Given the description of an element on the screen output the (x, y) to click on. 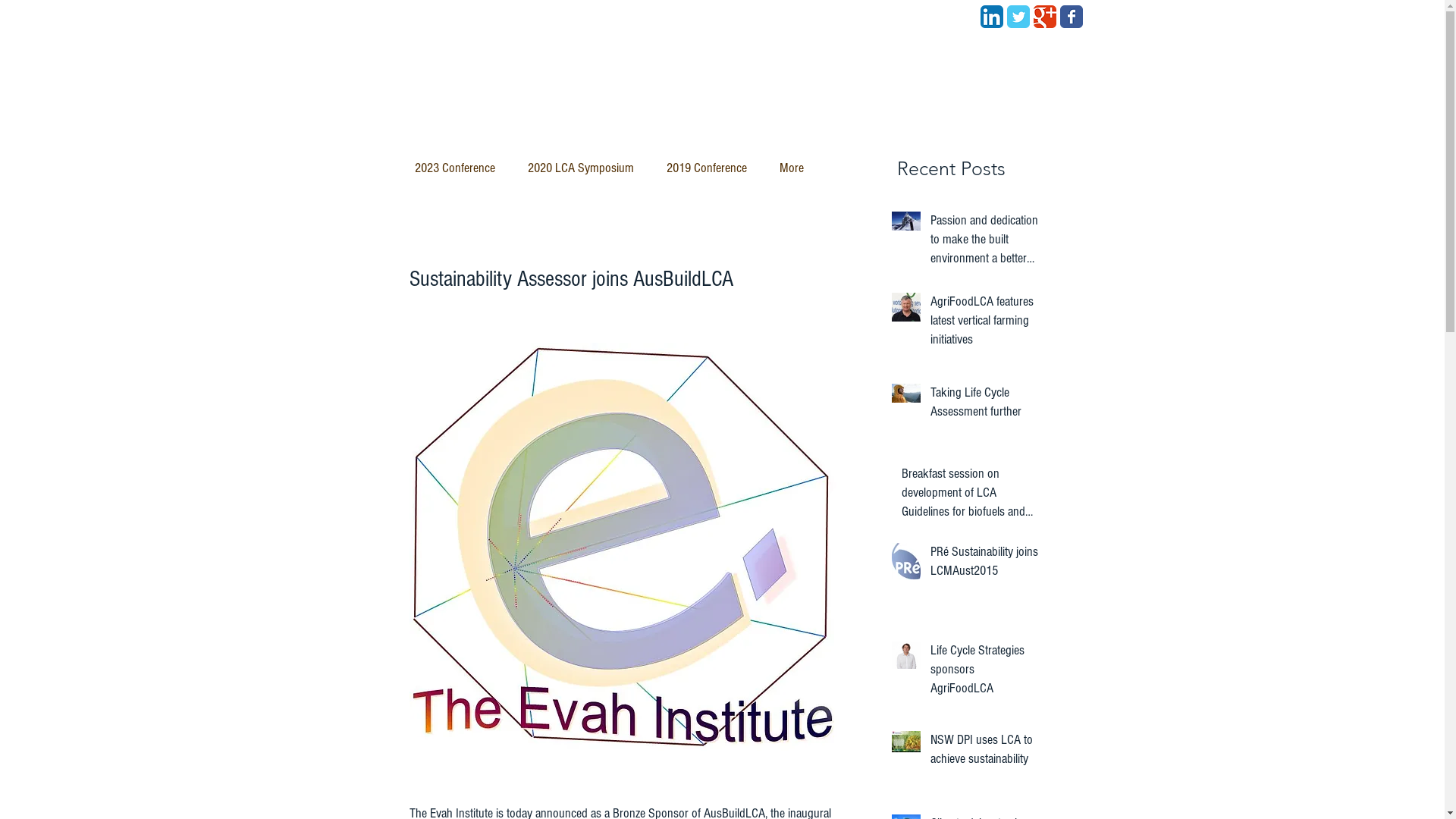
Life Cycle Strategies sponsors AgriFoodLCA Element type: text (983, 672)
NSW DPI uses LCA to achieve sustainability Element type: text (983, 752)
Taking Life Cycle Assessment further Element type: text (983, 404)
AgriFoodLCA features latest vertical farming initiatives Element type: text (983, 323)
2019 Conference Element type: text (706, 168)
2020 LCA Symposium Element type: text (580, 168)
2023 Conference Element type: text (456, 168)
